Given the description of an element on the screen output the (x, y) to click on. 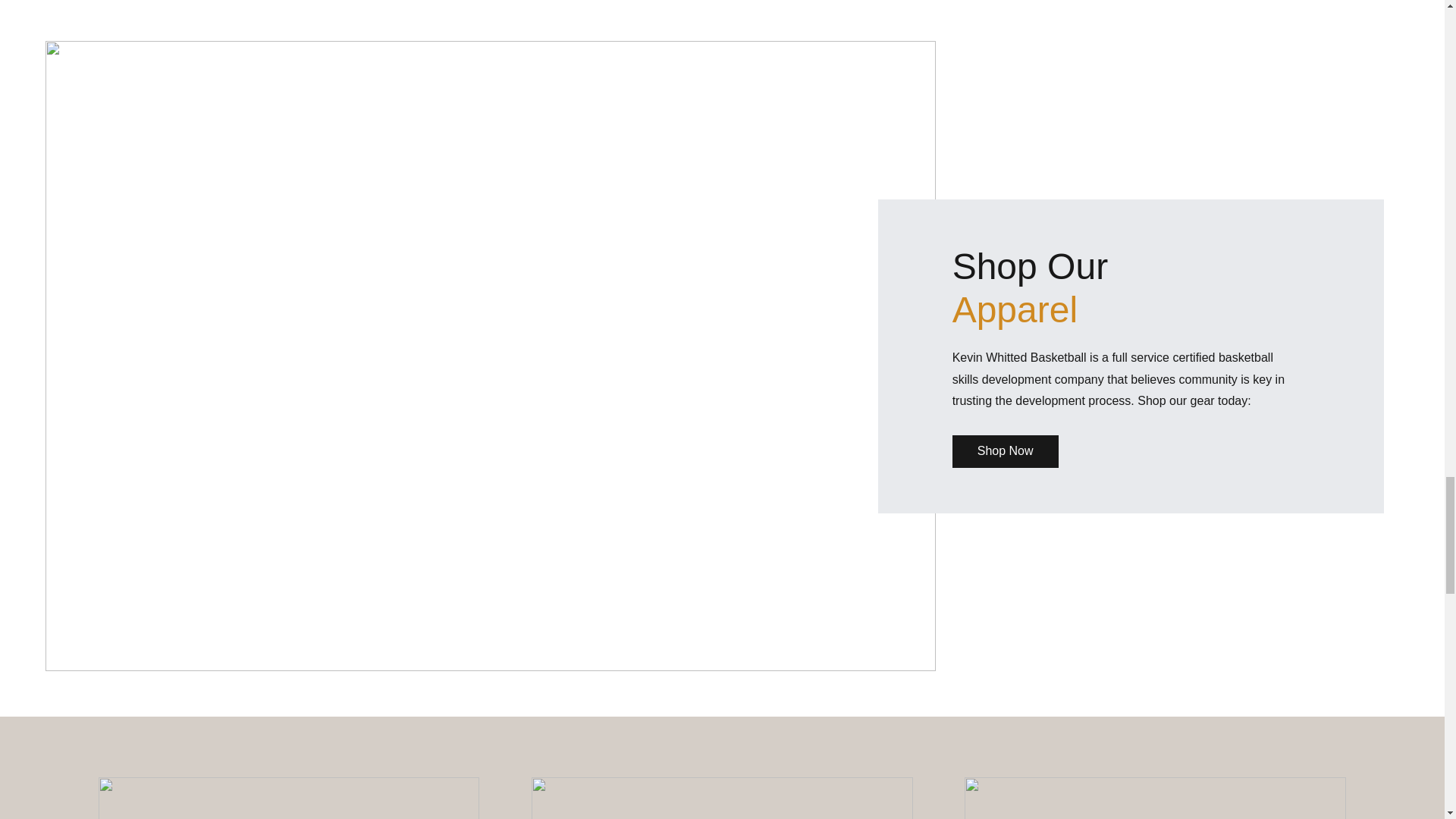
Shop Now (1005, 450)
